Given the description of an element on the screen output the (x, y) to click on. 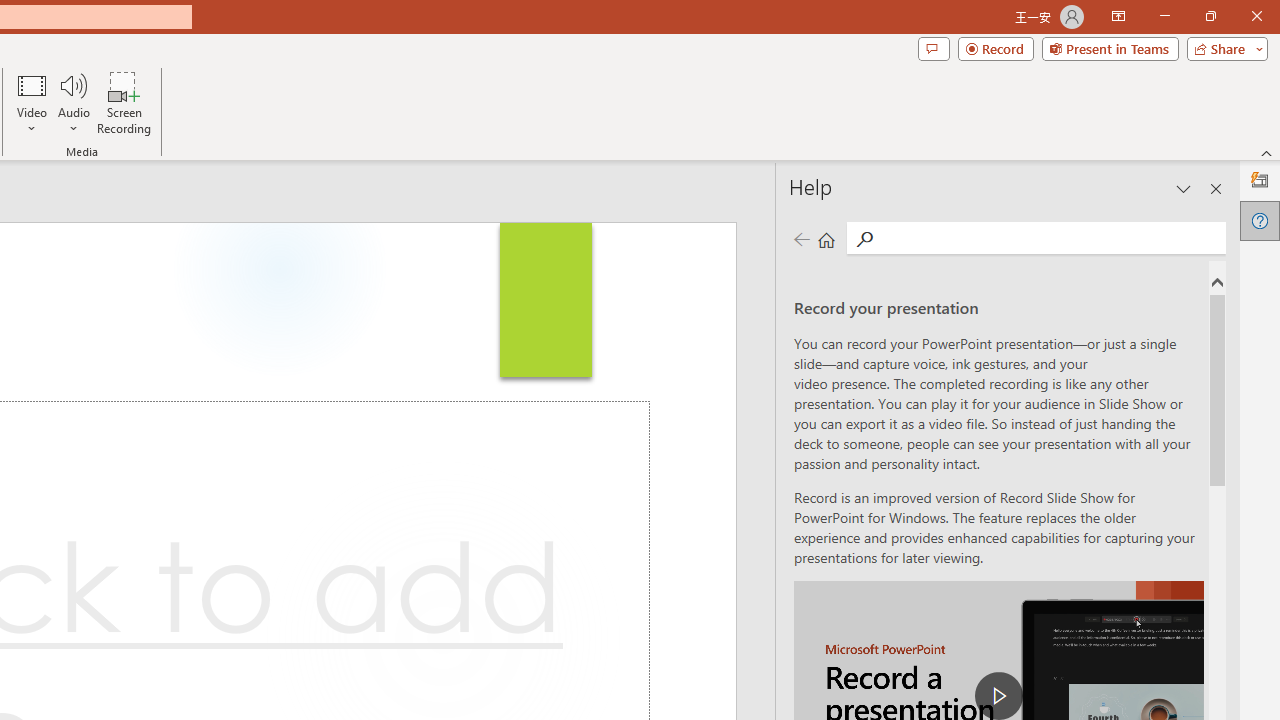
Video (31, 102)
Screen Recording... (123, 102)
Previous page (801, 238)
